Given the description of an element on the screen output the (x, y) to click on. 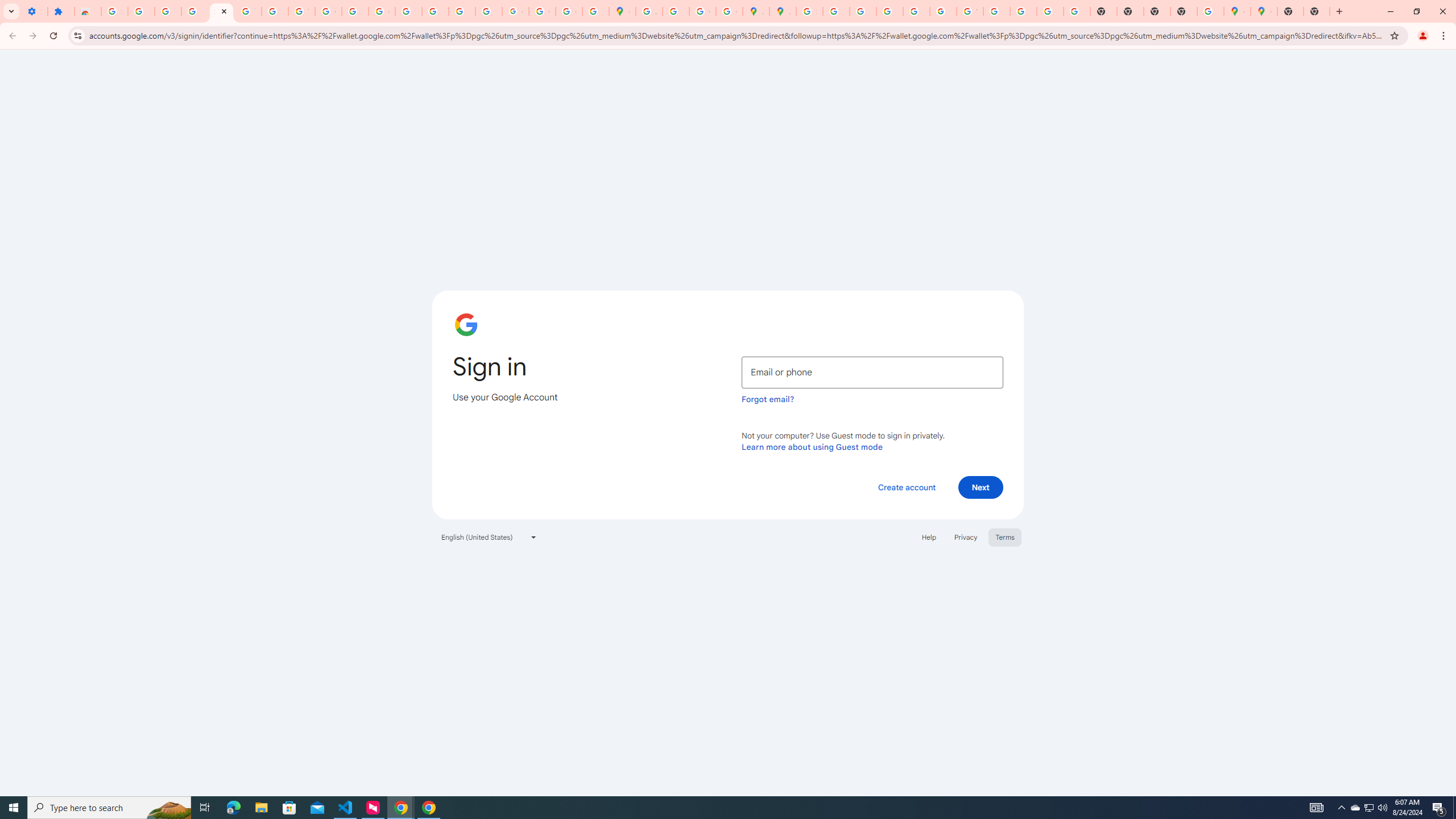
Privacy Help Center - Policies Help (408, 11)
https://scholar.google.com/ (355, 11)
English (United States) (489, 536)
Privacy Help Center - Policies Help (862, 11)
Google Maps (622, 11)
Sign in - Google Accounts (221, 11)
